Given the description of an element on the screen output the (x, y) to click on. 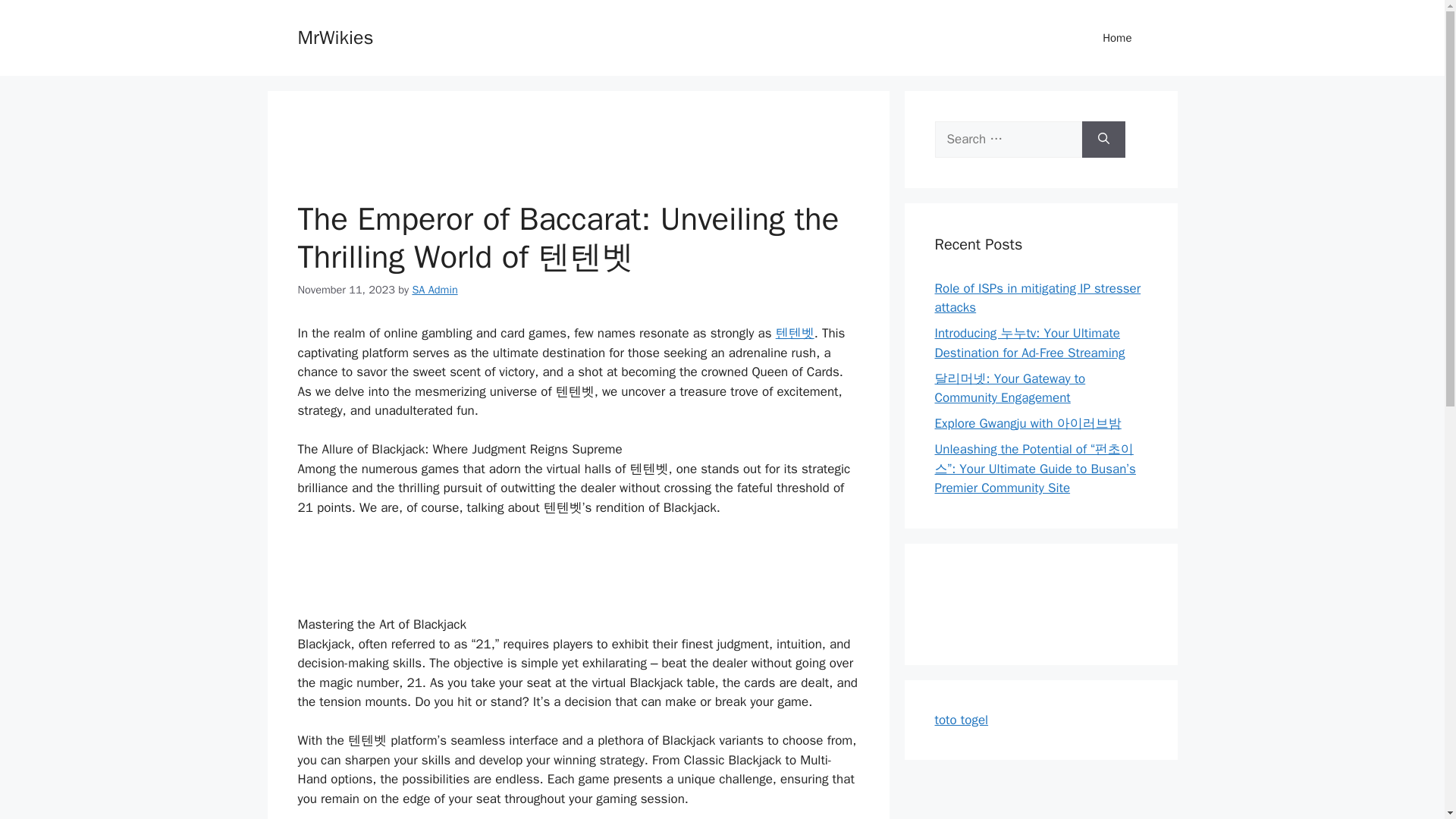
Role of ISPs in mitigating IP stresser attacks (1037, 298)
View all posts by SA Admin (434, 288)
Search for: (1007, 139)
Home (1117, 37)
SA Admin (434, 288)
toto togel (961, 719)
MrWikies (334, 37)
